Given the description of an element on the screen output the (x, y) to click on. 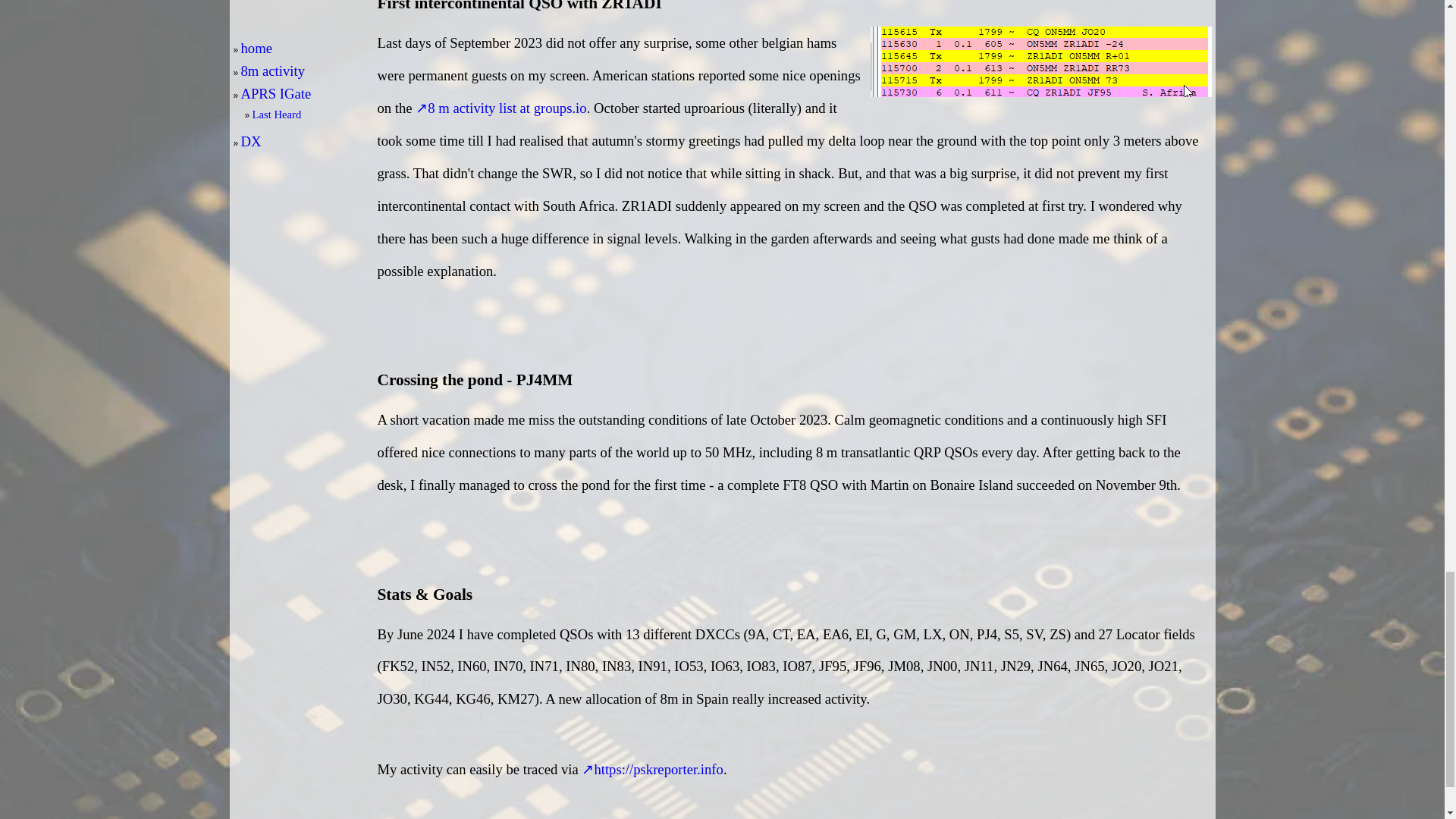
8 m activity list at groups.io (500, 107)
